Given the description of an element on the screen output the (x, y) to click on. 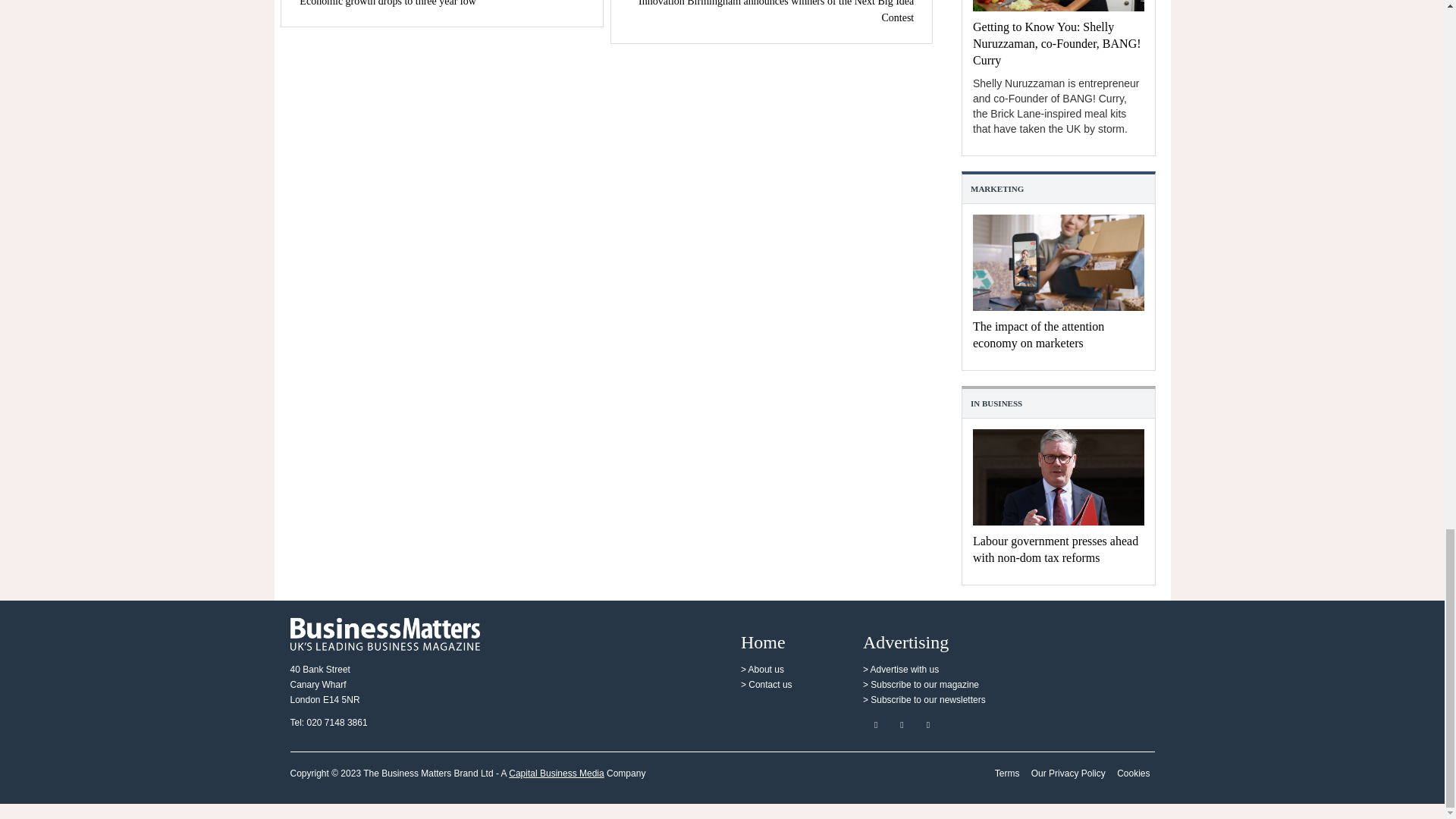
Economic growth drops to three year low (387, 3)
